Given the description of an element on the screen output the (x, y) to click on. 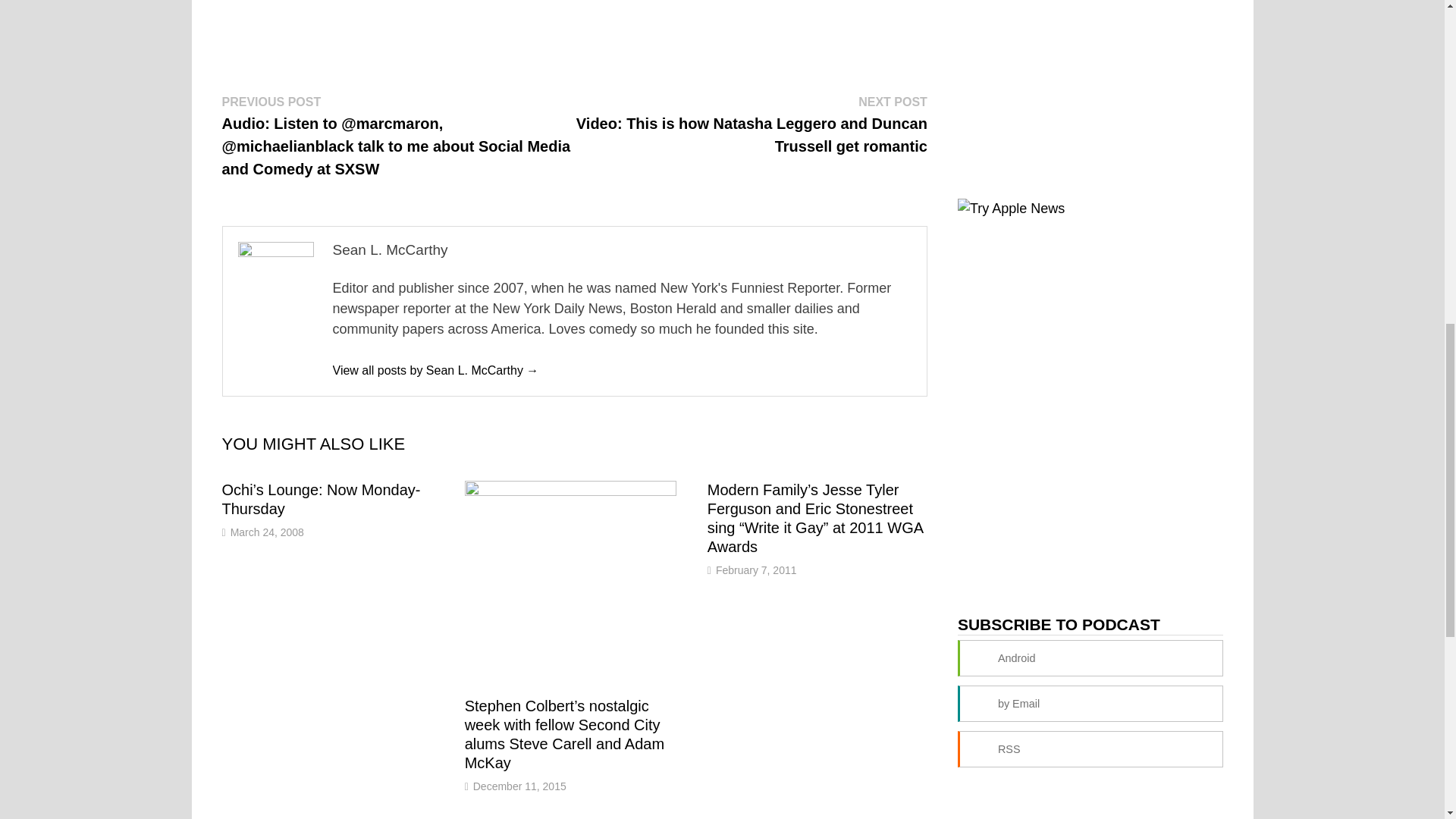
Subscribe via RSS (1090, 749)
Sean L. McCarthy (434, 369)
Subscribe by Email (1090, 703)
December 11, 2015 (519, 786)
Subscribe on Android (1090, 657)
YouTube video player (410, 12)
February 7, 2011 (756, 570)
March 24, 2008 (267, 532)
